Given the description of an element on the screen output the (x, y) to click on. 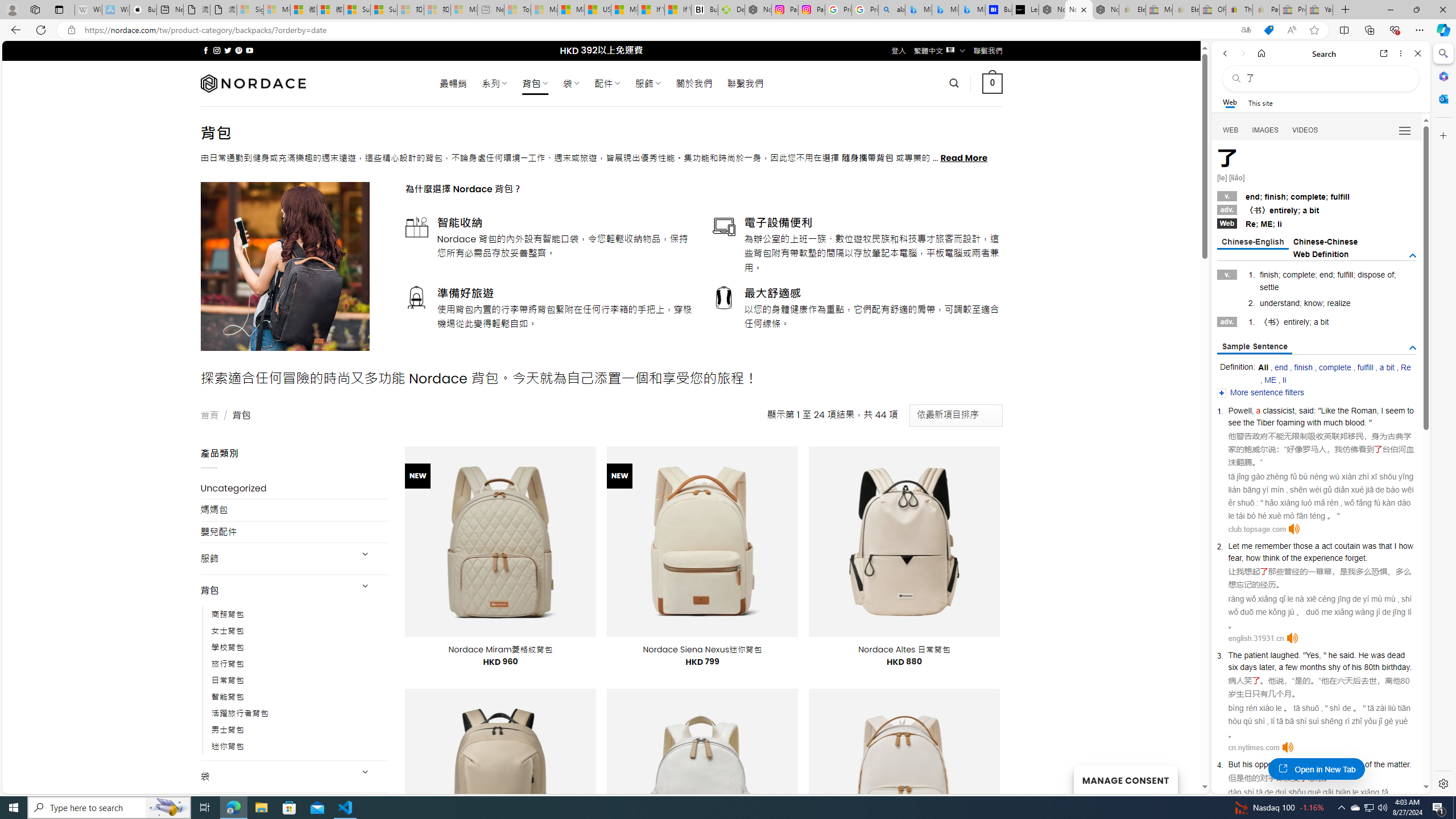
I (1394, 545)
act (1326, 545)
blood (1354, 422)
of (1368, 764)
dispose (1371, 274)
Microsoft Bing Travel - Flights from Hong Kong to Bangkok (917, 9)
